Given the description of an element on the screen output the (x, y) to click on. 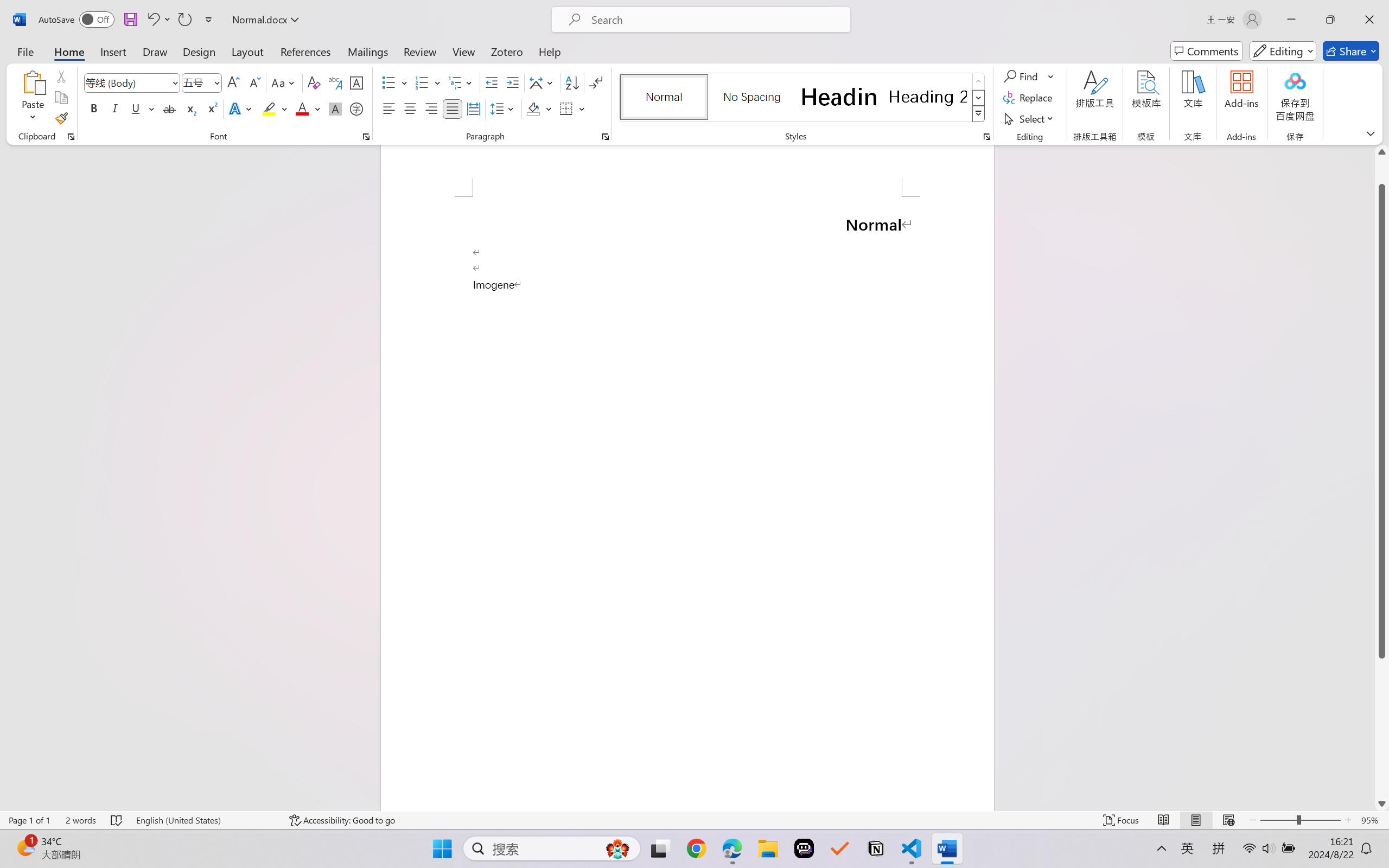
Repeat Style (184, 19)
Copy (60, 97)
Align Left (388, 108)
Strikethrough (169, 108)
Paragraph... (605, 136)
